Given the description of an element on the screen output the (x, y) to click on. 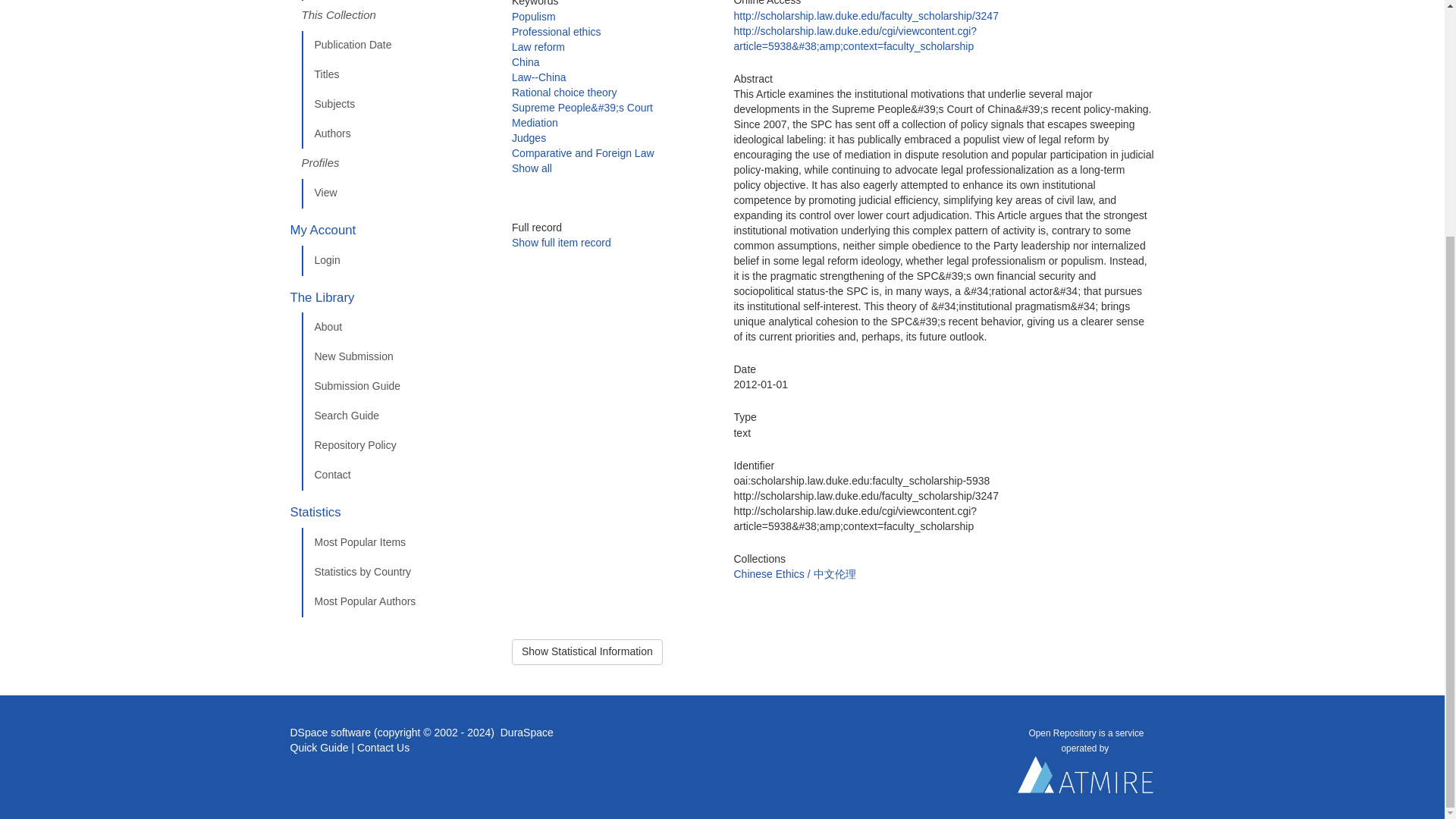
This Collection (395, 15)
Atmire NV (1085, 778)
